Given the description of an element on the screen output the (x, y) to click on. 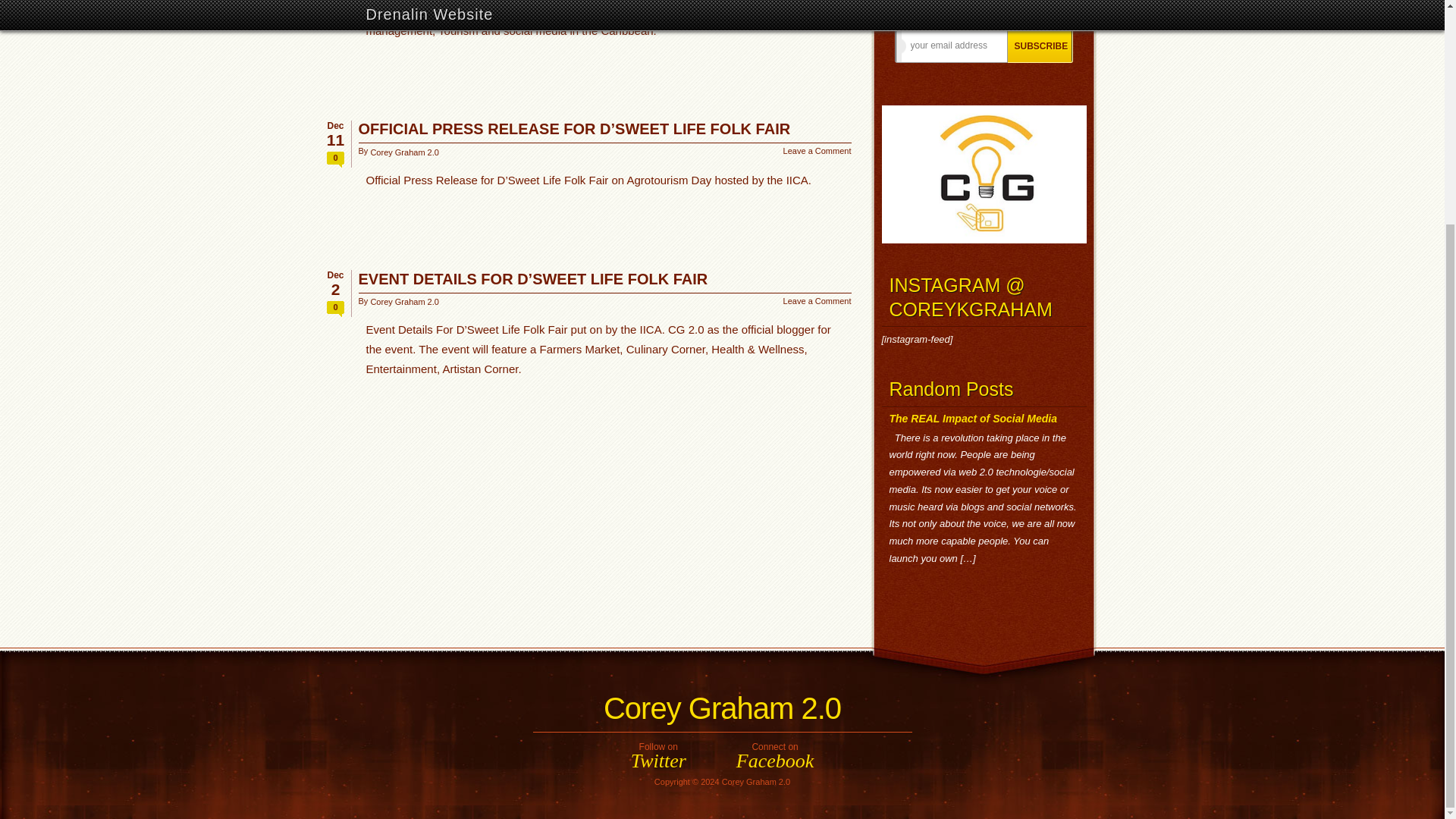
The REAL Impact of Social Media (972, 418)
Corey Graham 2.0 (403, 300)
0 (334, 159)
Leave a Comment (817, 300)
Subscribe (1039, 45)
Corey Graham 2.0 (403, 151)
Corey Graham 2.0 (657, 754)
Leave a Comment (722, 707)
0 (817, 151)
